Given the description of an element on the screen output the (x, y) to click on. 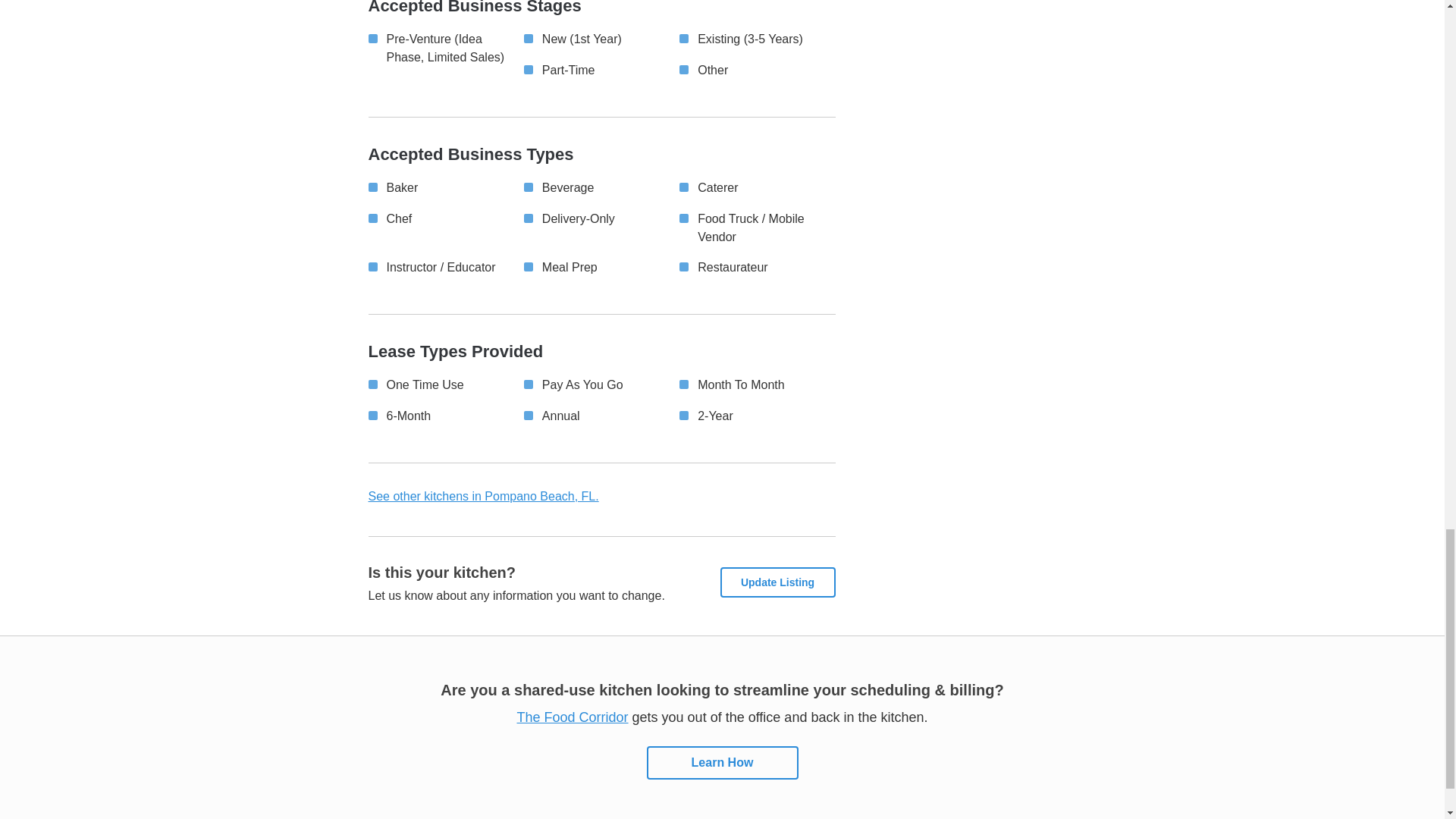
Update Listing (777, 582)
The Food Corridor (572, 717)
The Food Coridor (721, 762)
Update Listing (777, 582)
Learn How (721, 762)
The Food Coridor (572, 717)
See other kitchens in Pompano Beach, FL. (483, 495)
